Given the description of an element on the screen output the (x, y) to click on. 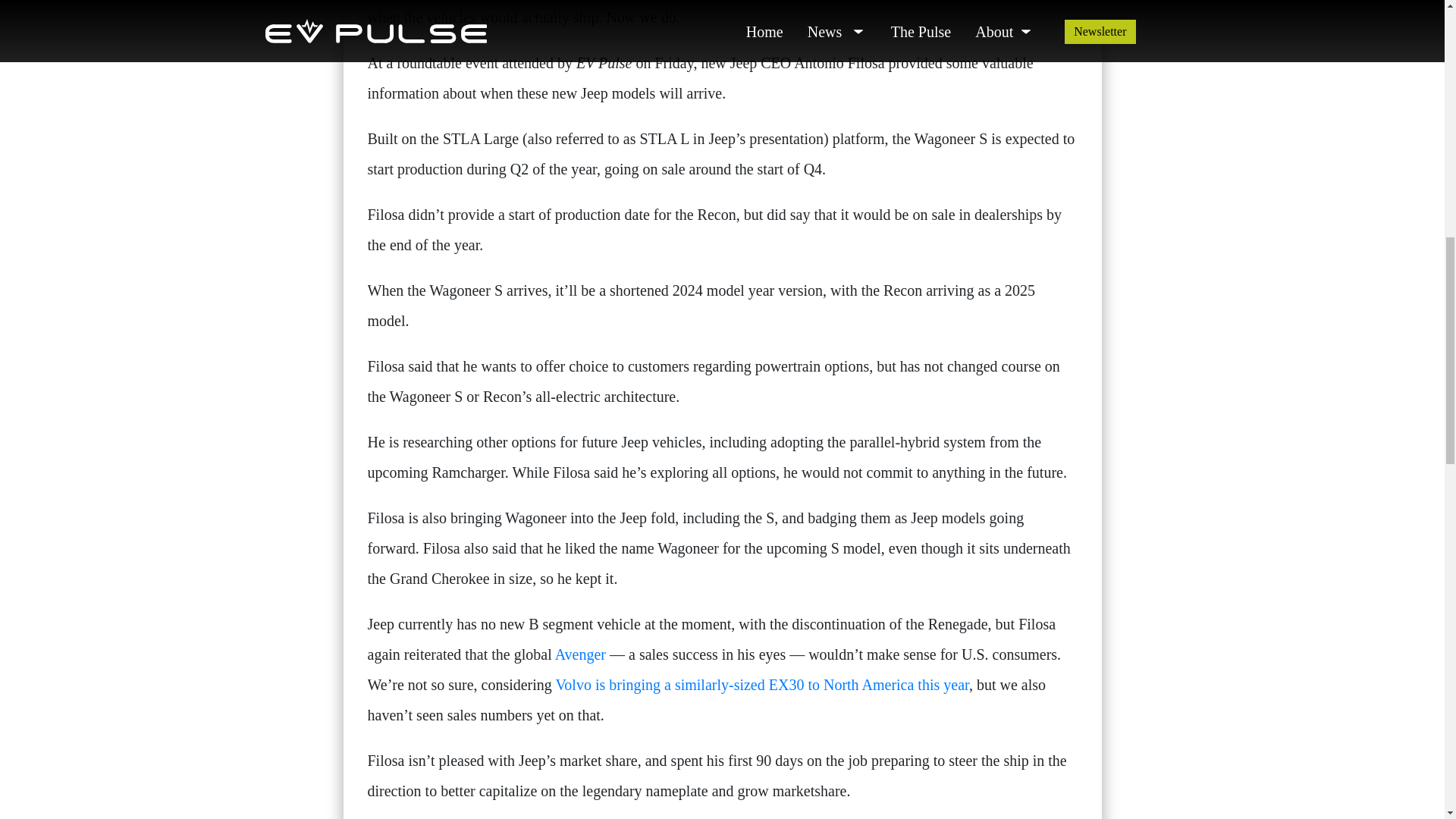
Avenger (579, 654)
